Given the description of an element on the screen output the (x, y) to click on. 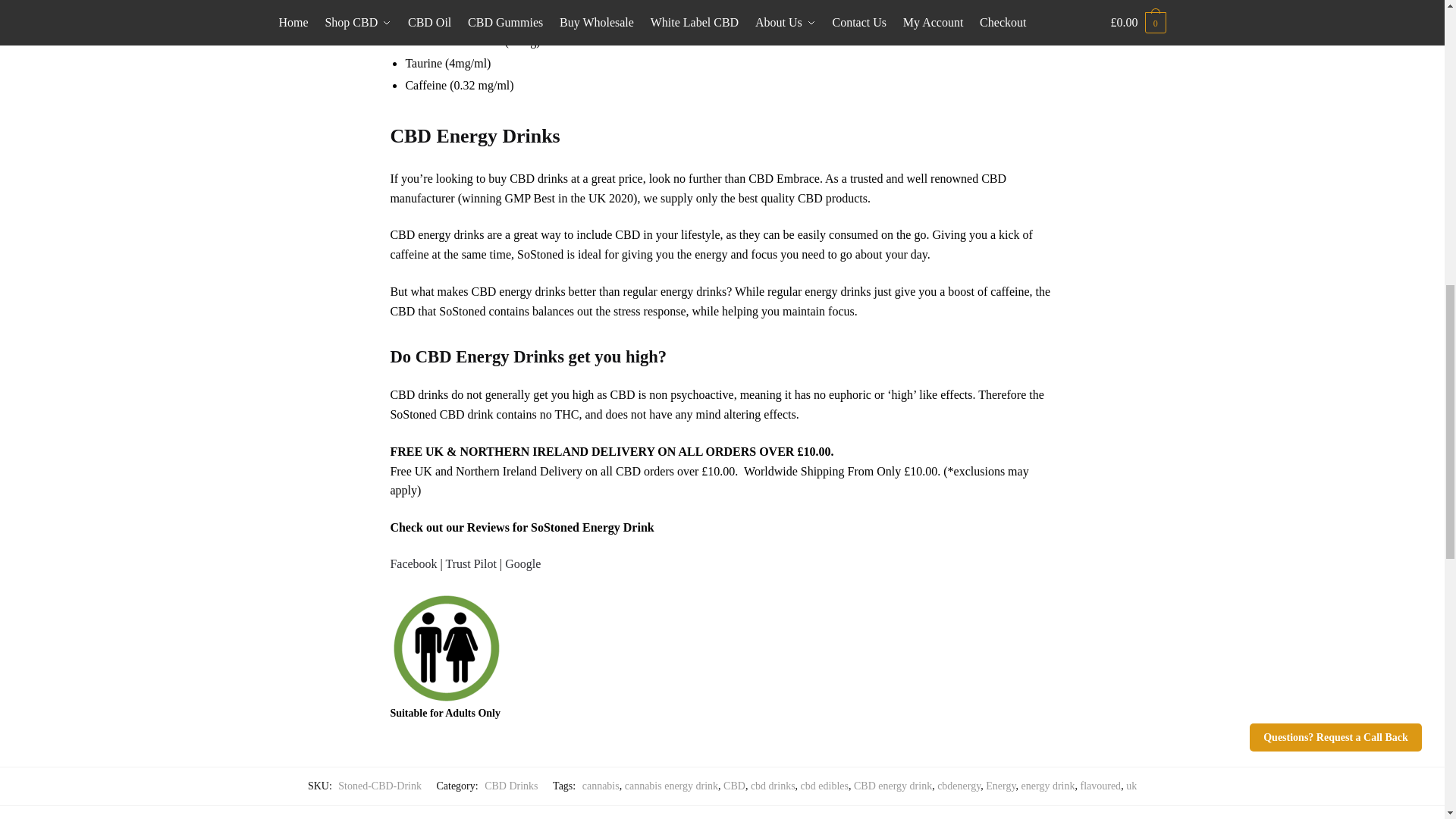
Facebook (413, 563)
